Given the description of an element on the screen output the (x, y) to click on. 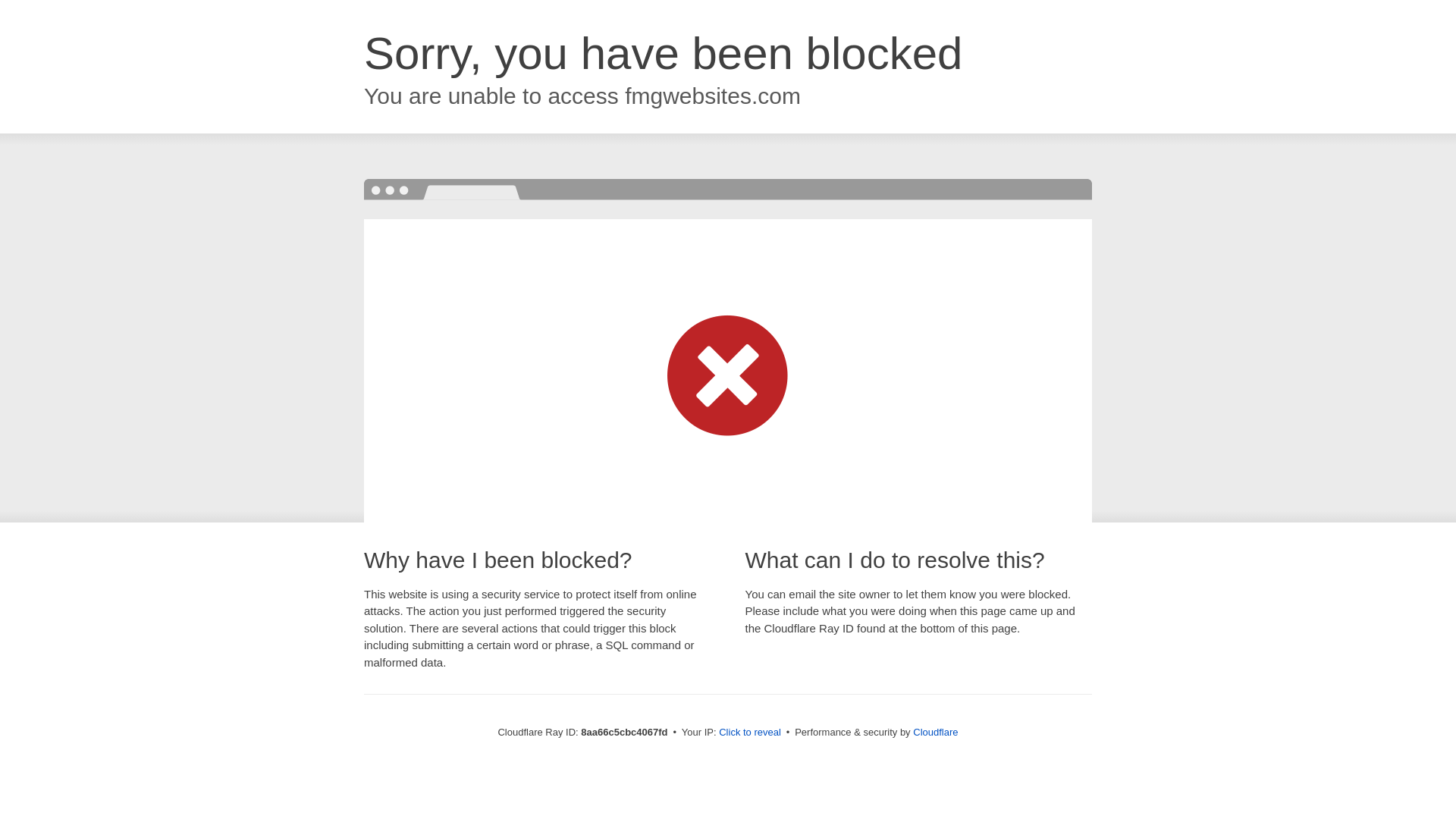
Click to reveal (749, 732)
Cloudflare (935, 731)
